Given the description of an element on the screen output the (x, y) to click on. 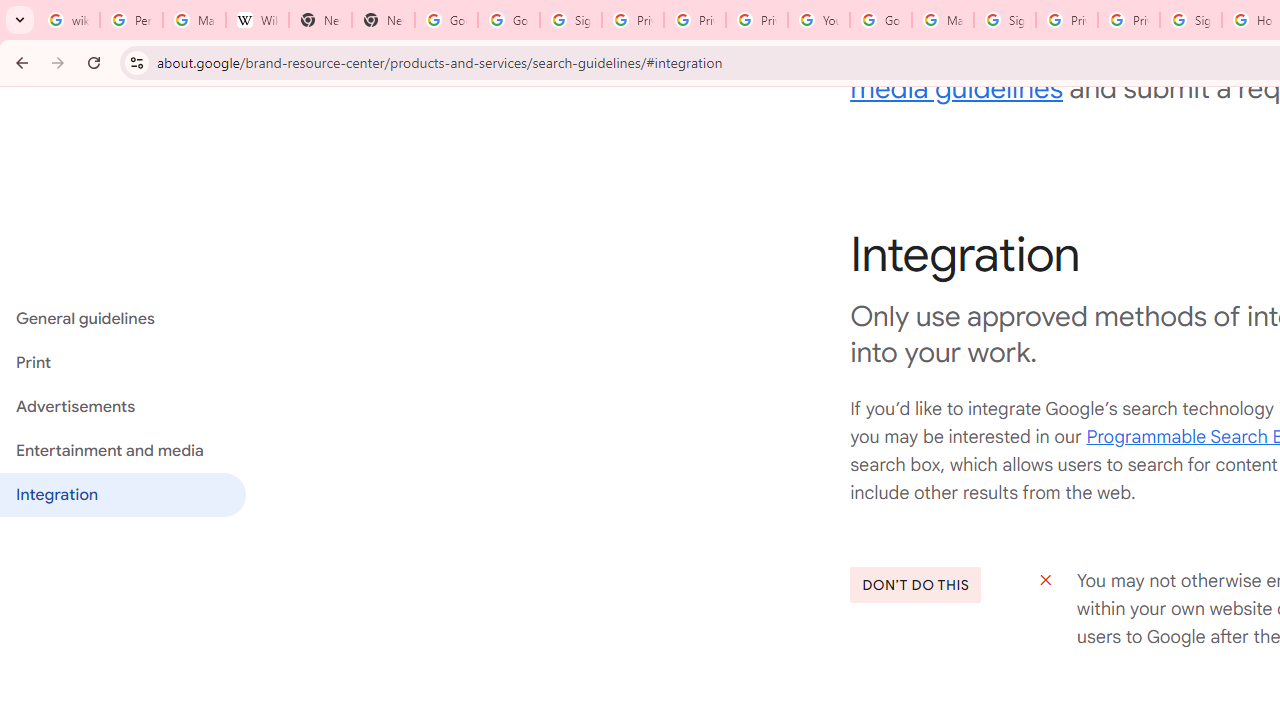
Google Drive: Sign-in (508, 20)
Print (122, 363)
YouTube (818, 20)
Entertainment and media (122, 451)
Sign in - Google Accounts (570, 20)
Sign in - Google Accounts (1004, 20)
Personalization & Google Search results - Google Search Help (130, 20)
